Given the description of an element on the screen output the (x, y) to click on. 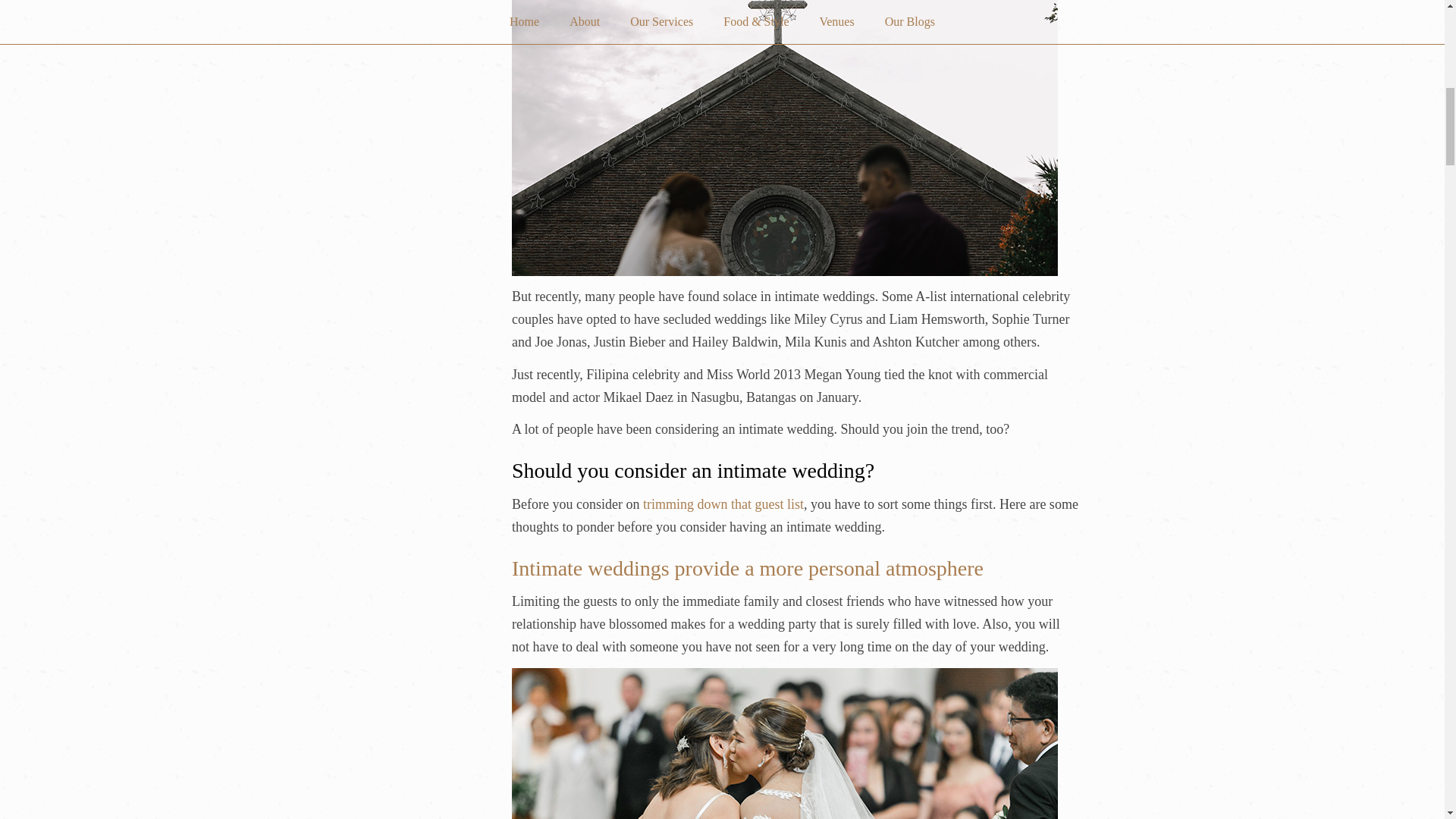
trimming down that guest list (723, 503)
Intimate weddings provide a more personal atmosphere (748, 567)
